Given the description of an element on the screen output the (x, y) to click on. 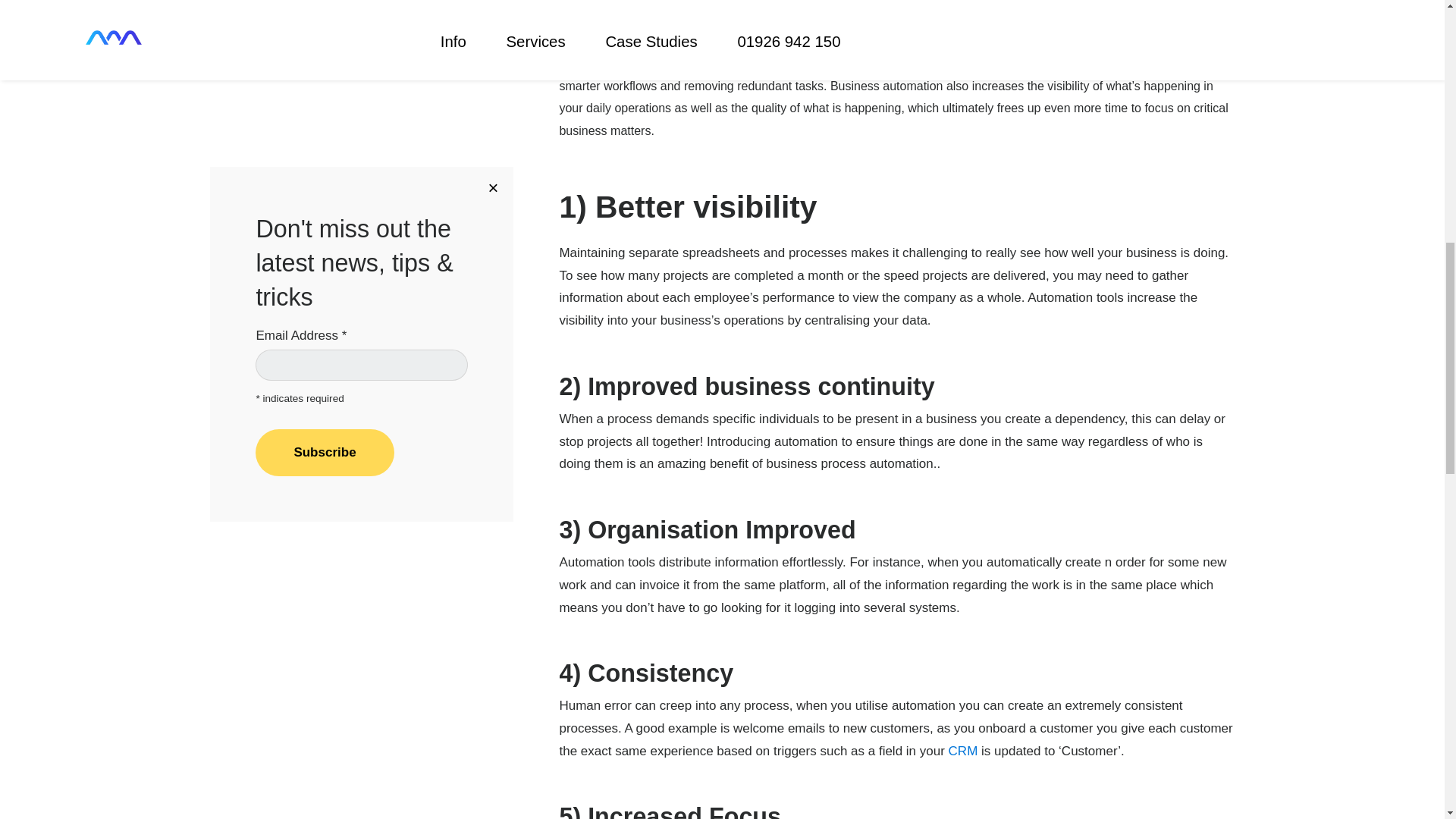
CRM (963, 750)
Subscribe (324, 178)
Subscribe (324, 178)
